Given the description of an element on the screen output the (x, y) to click on. 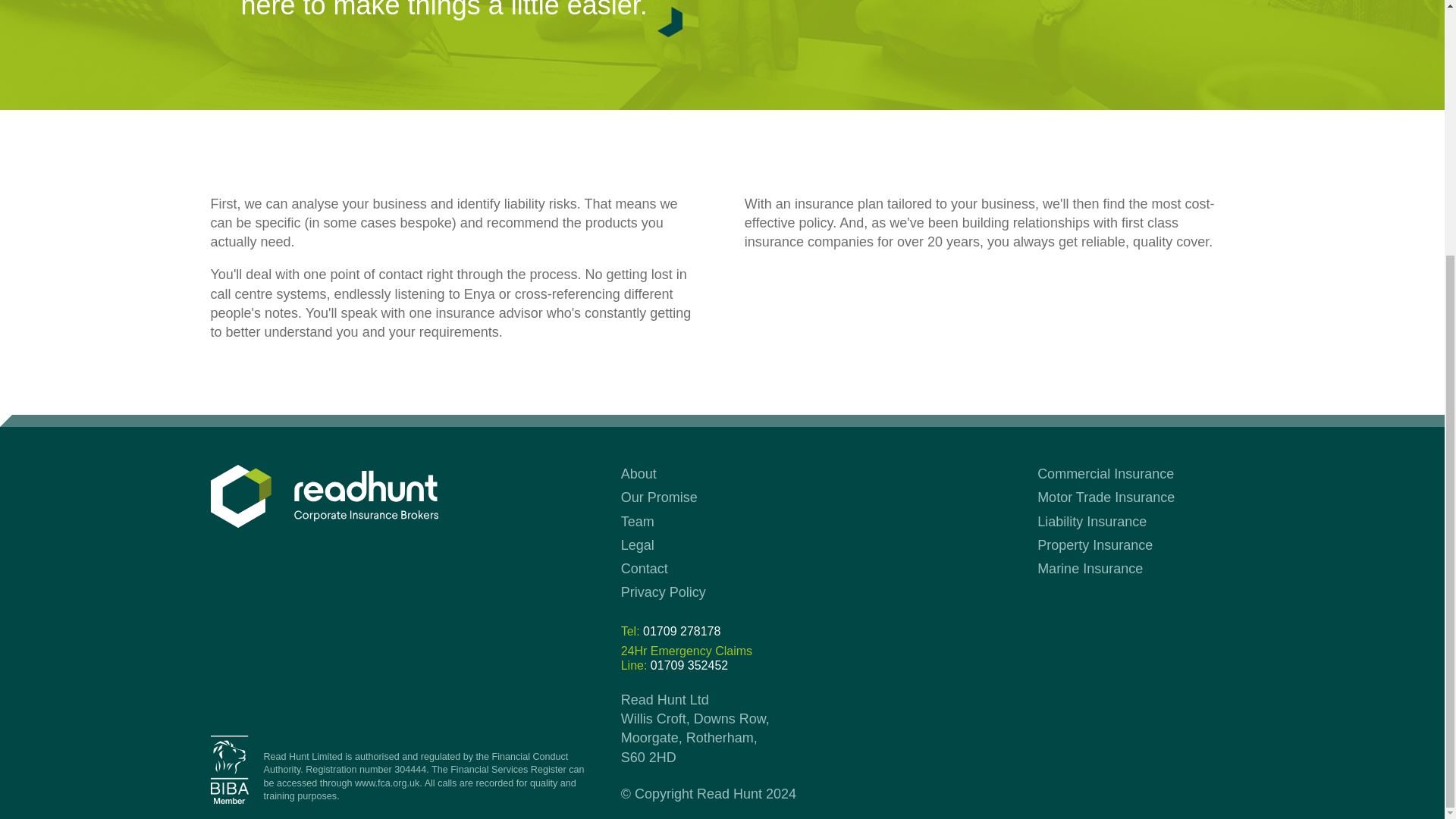
Commercial Insurance (1104, 473)
About (638, 473)
Legal (637, 544)
Marine Insurance (686, 657)
Team (1089, 568)
Privacy Policy (637, 521)
Tel: 01709 278178 (663, 591)
Contact (670, 631)
Motor Trade Insurance (644, 568)
Property Insurance (1105, 497)
Our Promise (1094, 544)
www.fca.org.uk (659, 497)
Liability Insurance (387, 783)
